Given the description of an element on the screen output the (x, y) to click on. 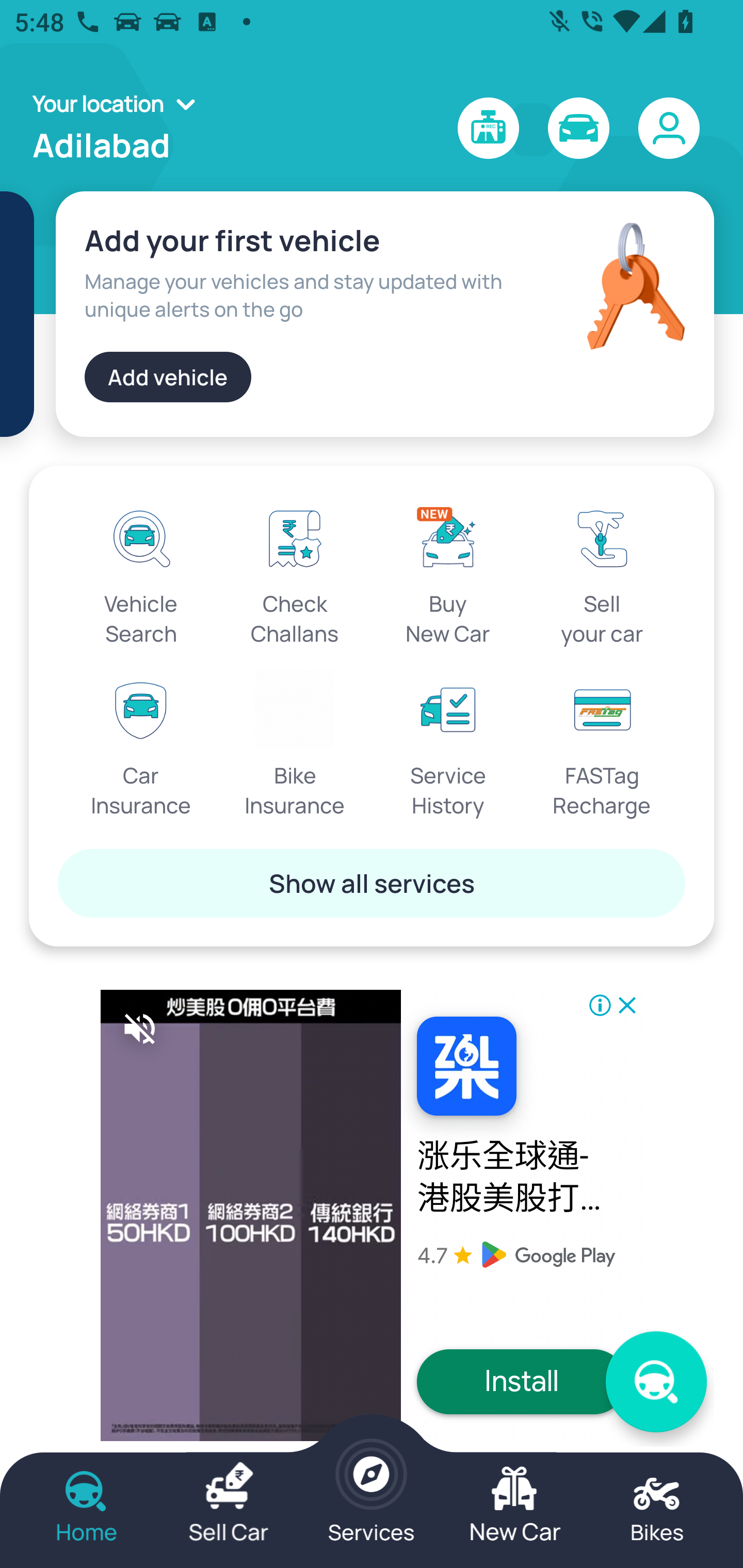
Your location Adilabad (119, 128)
Add vehicle (167, 376)
Vehicle
Search (141, 572)
Check
Challans (294, 572)
Buy
New Car (447, 572)
Sell
your car (601, 572)
Car
Insurance (141, 744)
Bike
Insurance (294, 744)
Service
History (447, 744)
FASTag Recharge (601, 744)
Show all services (371, 882)
Install (521, 1381)
